Given the description of an element on the screen output the (x, y) to click on. 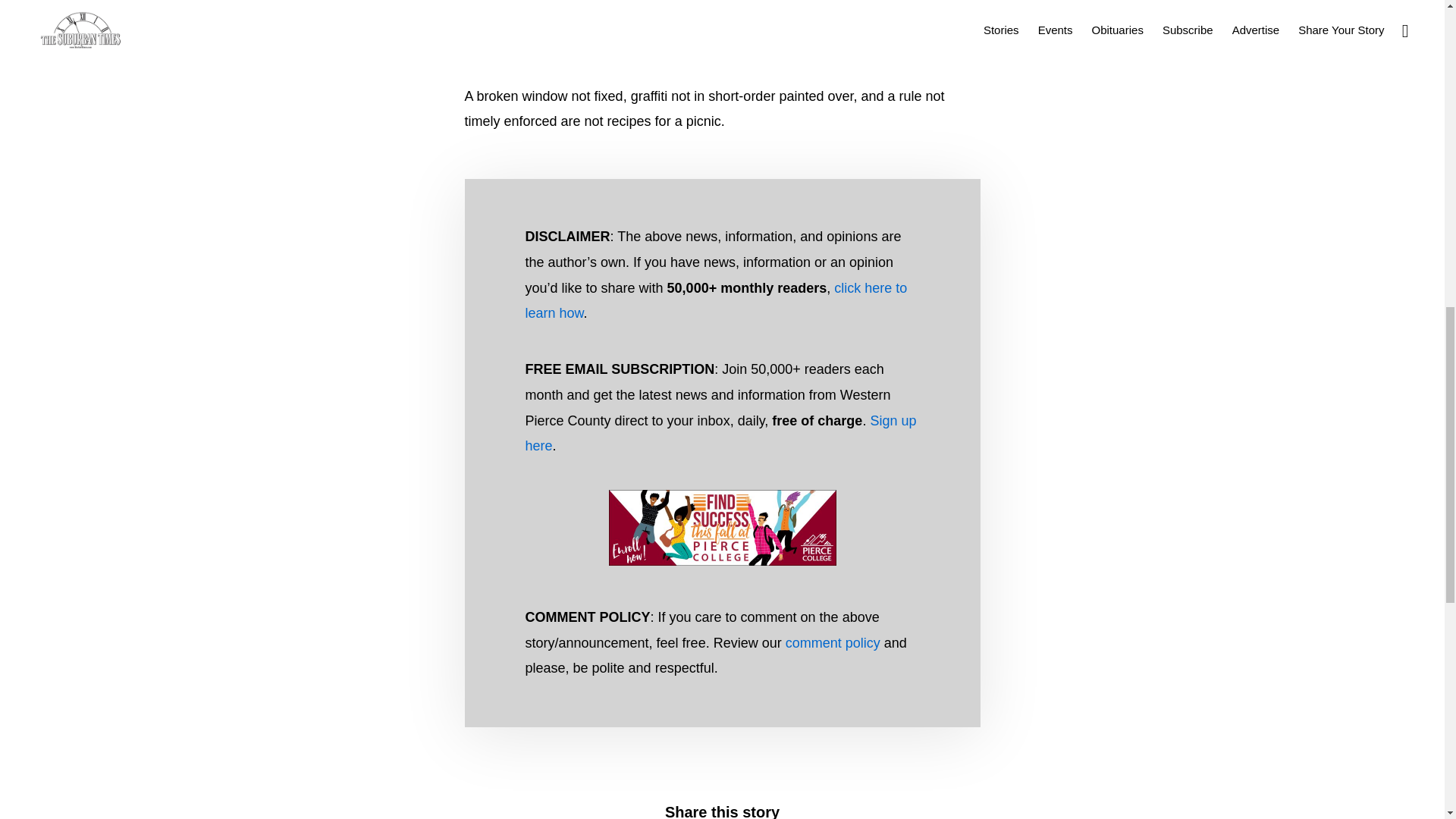
comment policy (833, 642)
Sign up here (719, 433)
click here to learn how (715, 300)
